Given the description of an element on the screen output the (x, y) to click on. 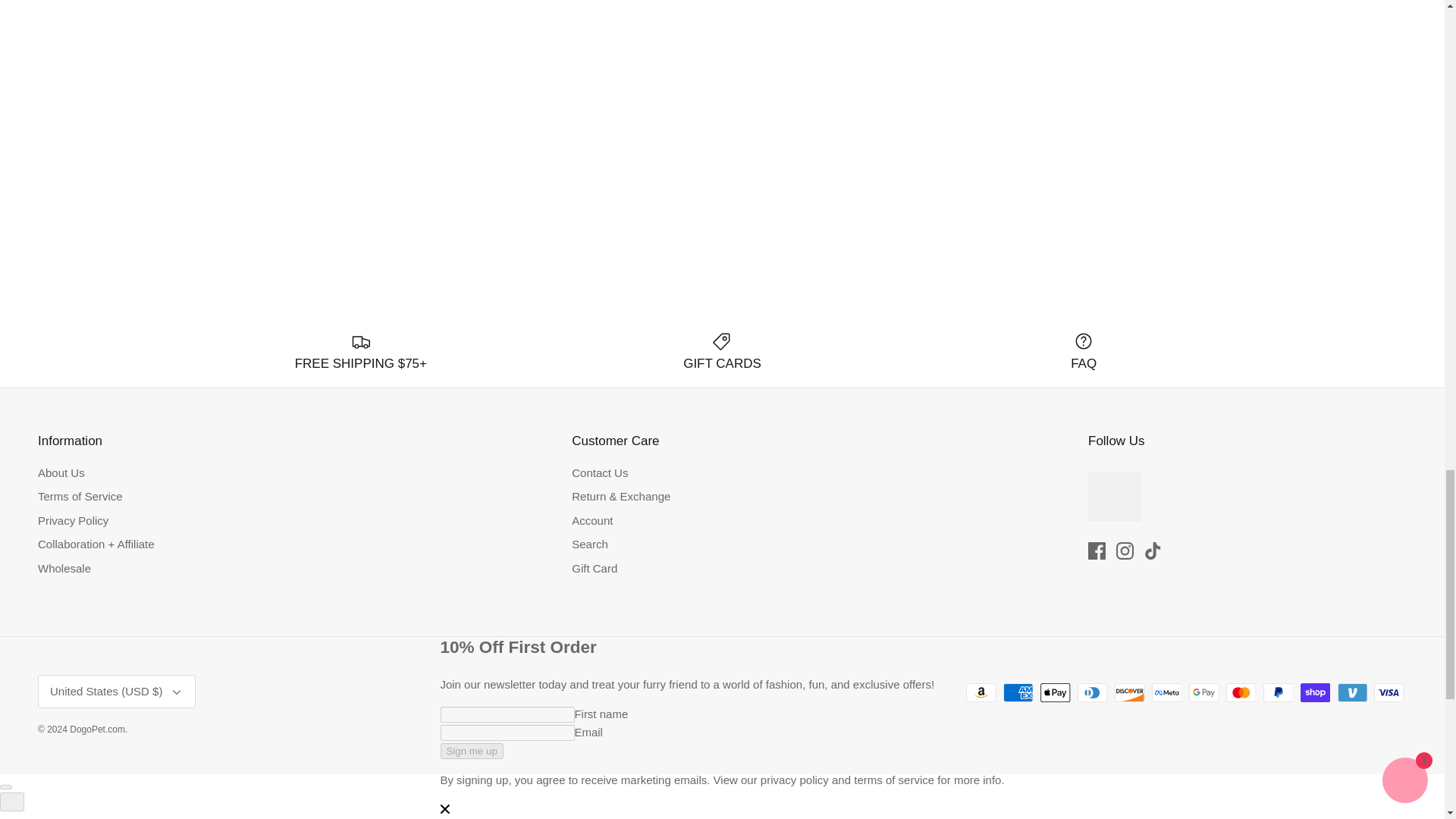
Meta Pay (1166, 692)
Mastercard (1240, 692)
Google Pay (1203, 692)
Amazon (980, 692)
American Express (1018, 692)
Apple Pay (1055, 692)
Diners Club (1092, 692)
Facebook (1096, 550)
Instagram (1125, 550)
Discover (1129, 692)
